Given the description of an element on the screen output the (x, y) to click on. 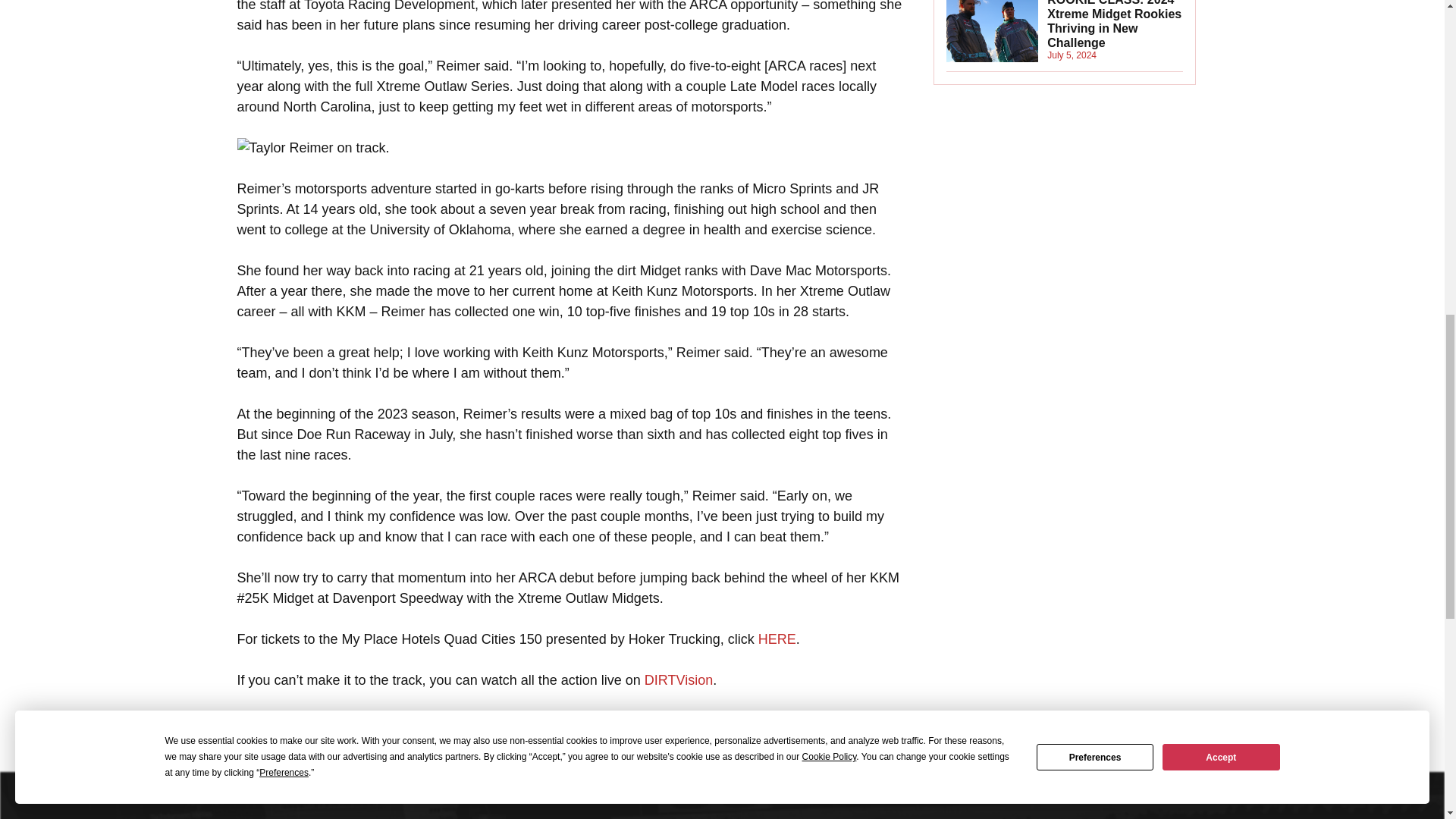
DIRTVision (679, 679)
HERE (777, 639)
